Given the description of an element on the screen output the (x, y) to click on. 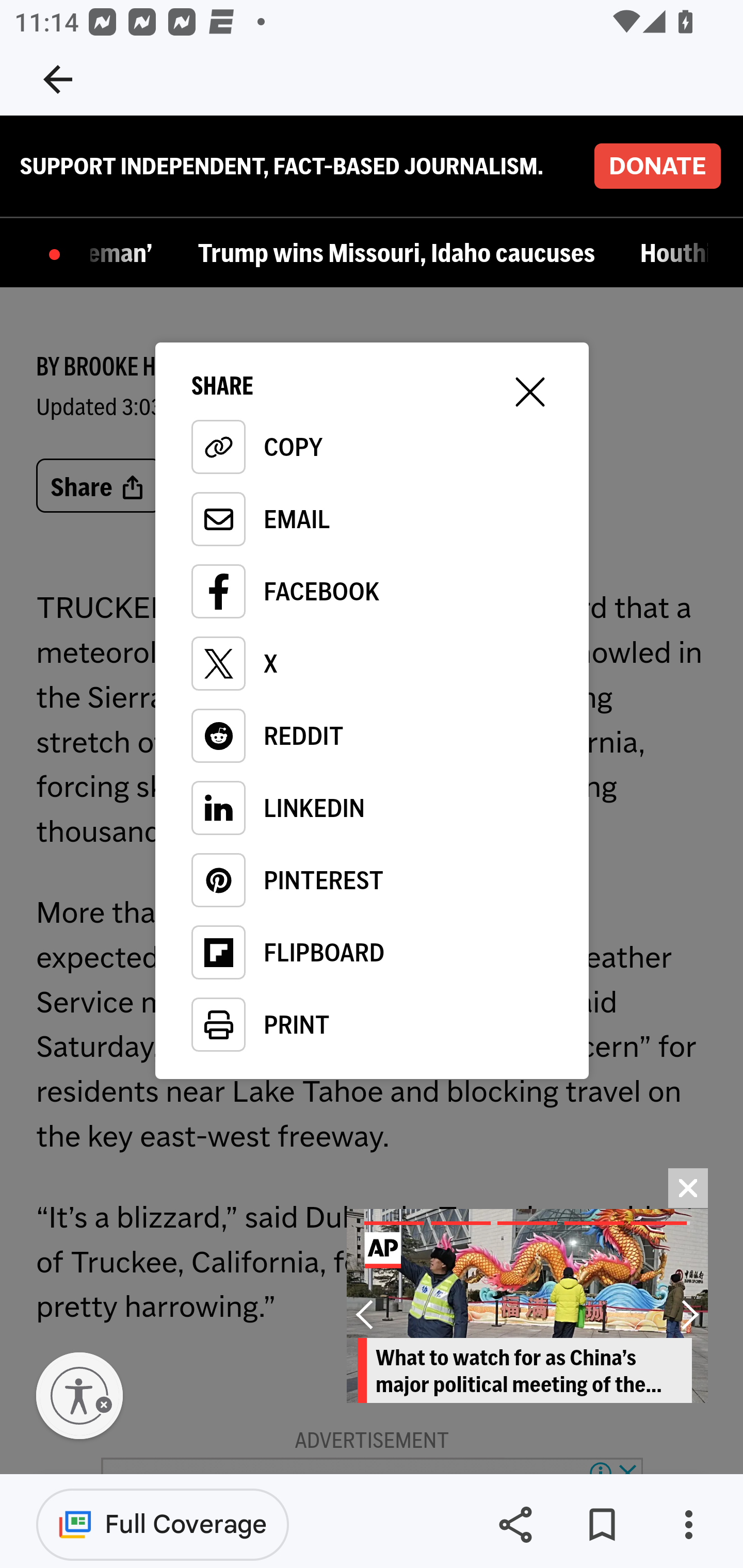
Navigate up (57, 79)
DONATE (657, 167)
Adam Sandler in ‘Spaceman’ (126, 254)
Trump wins Missouri, Idaho caucuses (400, 254)
COPY LINK COPIED (371, 448)
EMAIL (371, 521)
FACEBOOK (371, 593)
X (371, 665)
REDDIT (371, 737)
LINKEDIN (371, 809)
PINTEREST (371, 881)
FLIPBOARD (371, 953)
PRINT (371, 1026)
Enable accessibility (79, 1396)
Share (514, 1524)
Save for later (601, 1524)
More options (688, 1524)
Full Coverage (162, 1524)
